Given the description of an element on the screen output the (x, y) to click on. 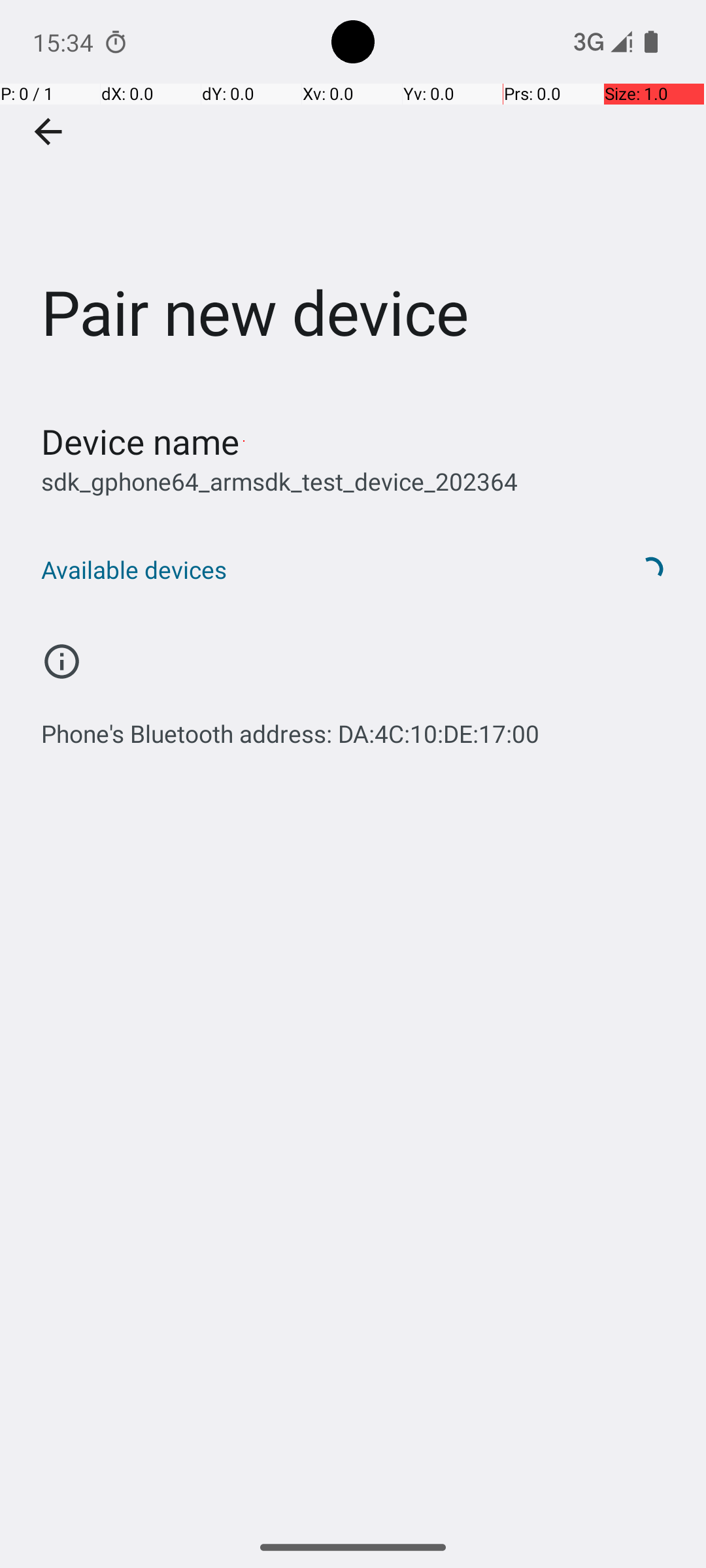
sdk_gphone64_armsdk_test_device_202364 Element type: android.widget.TextView (279, 480)
Available devices Element type: android.widget.TextView (318, 569)
Phone's Bluetooth address: DA:4C:10:DE:17:00 Element type: android.widget.TextView (290, 726)
